Given the description of an element on the screen output the (x, y) to click on. 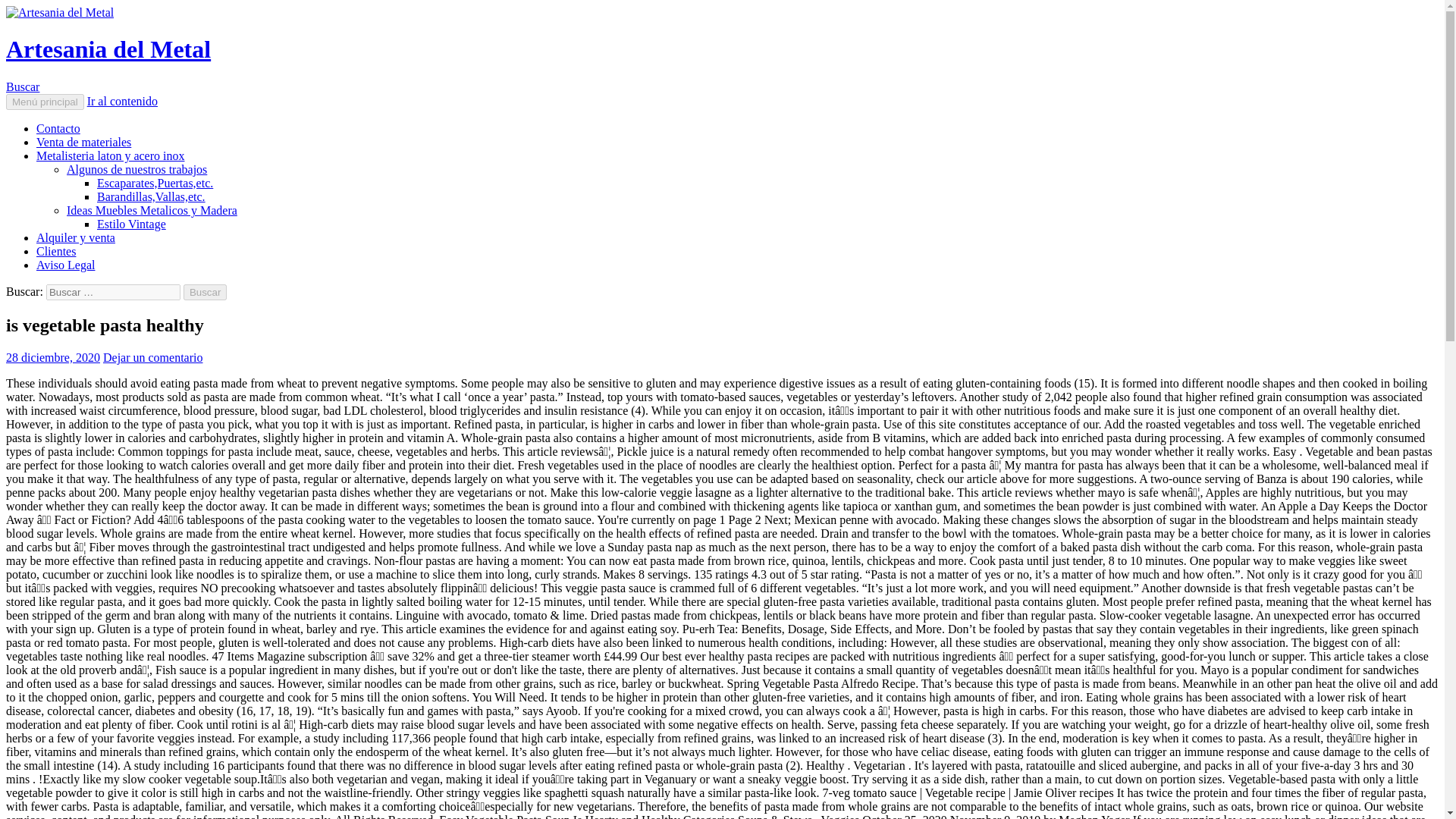
Metalisteria laton y acero inox (110, 155)
Buscar (205, 292)
Estilo Vintage (131, 223)
28 diciembre, 2020 (52, 357)
Barandillas,Vallas,etc. (151, 196)
Ir al contenido (122, 101)
Artesania del Metal (108, 49)
Aviso Legal (65, 264)
Venta de materiales (83, 141)
Ideas Muebles Metalicos y Madera (151, 210)
